Given the description of an element on the screen output the (x, y) to click on. 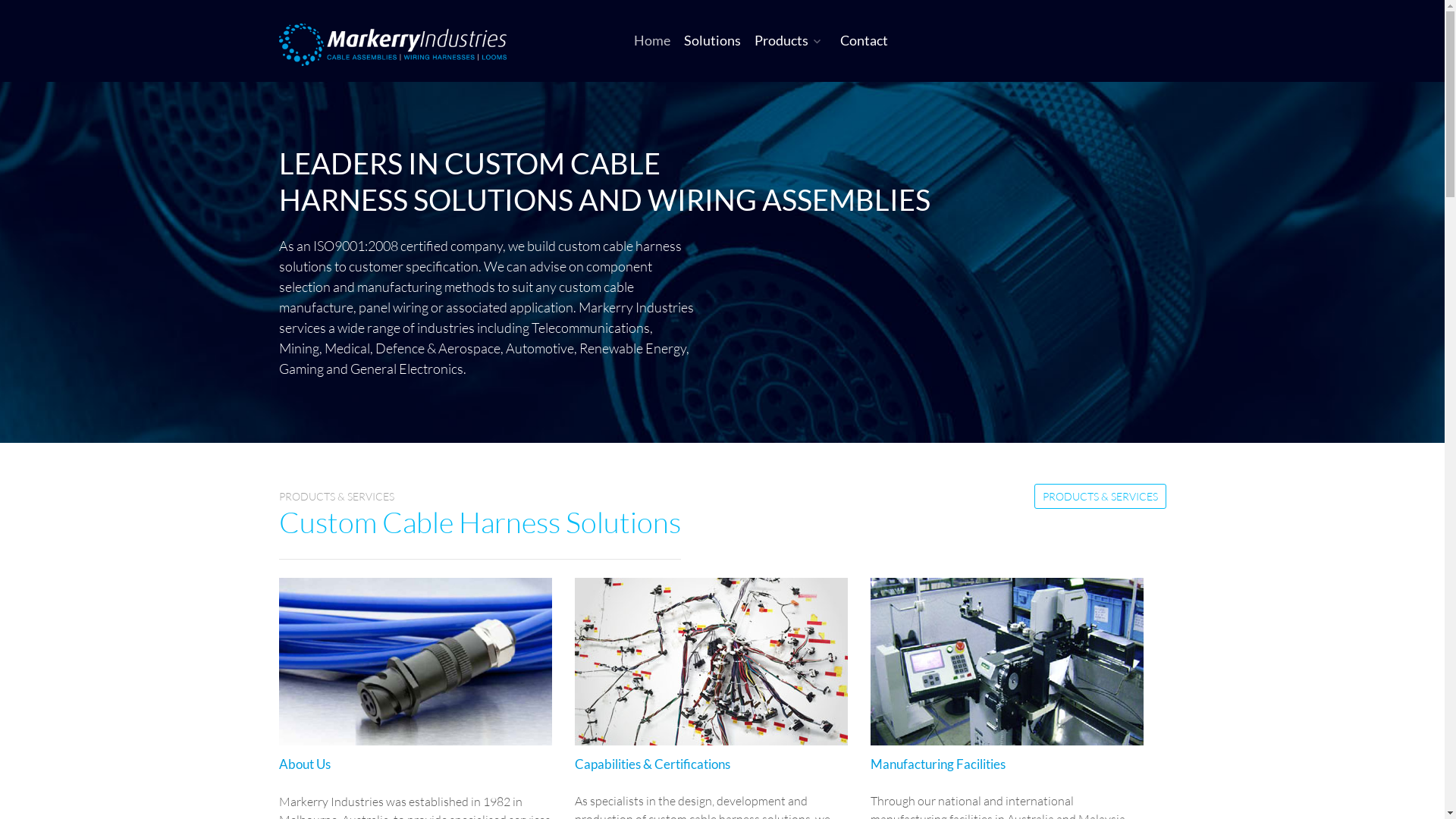
Products Element type: text (789, 39)
Home Element type: text (651, 39)
Skip to content Element type: text (0, 7)
PRODUCTS & SERVICES Element type: text (1100, 495)
Contact Element type: text (864, 39)
  Element type: text (401, 44)
Capabilities & Certifications Element type: text (652, 763)
Manufacturing Facilities Element type: text (937, 763)
Solutions Element type: text (712, 39)
About Us Element type: text (304, 763)
